Given the description of an element on the screen output the (x, y) to click on. 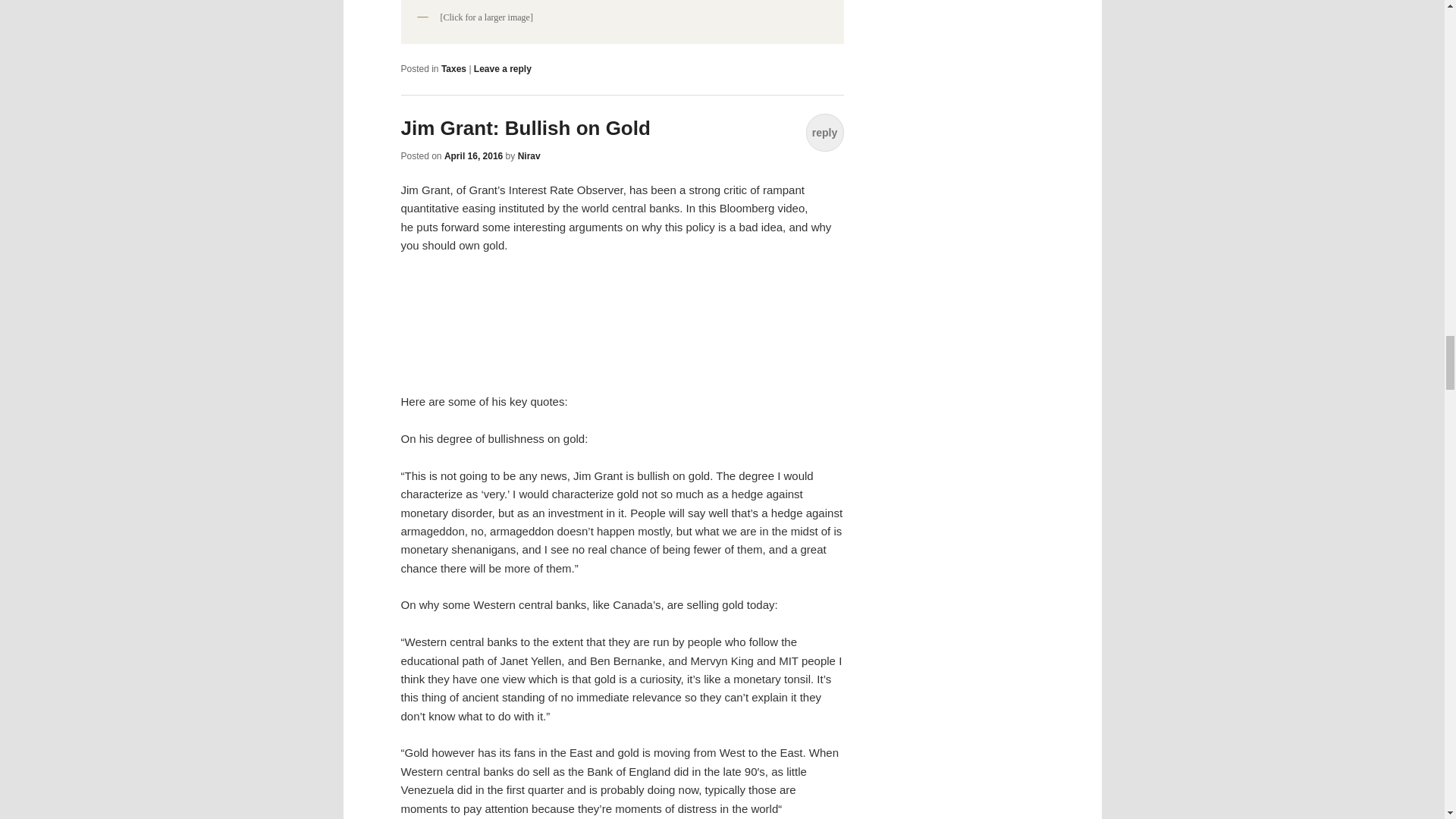
Jim Grant: Bullish on Gold (524, 128)
Nirav (529, 155)
Leave a reply (502, 68)
Taxes (453, 68)
April 16, 2016 (473, 155)
View all posts by Nirav (529, 155)
